Given the description of an element on the screen output the (x, y) to click on. 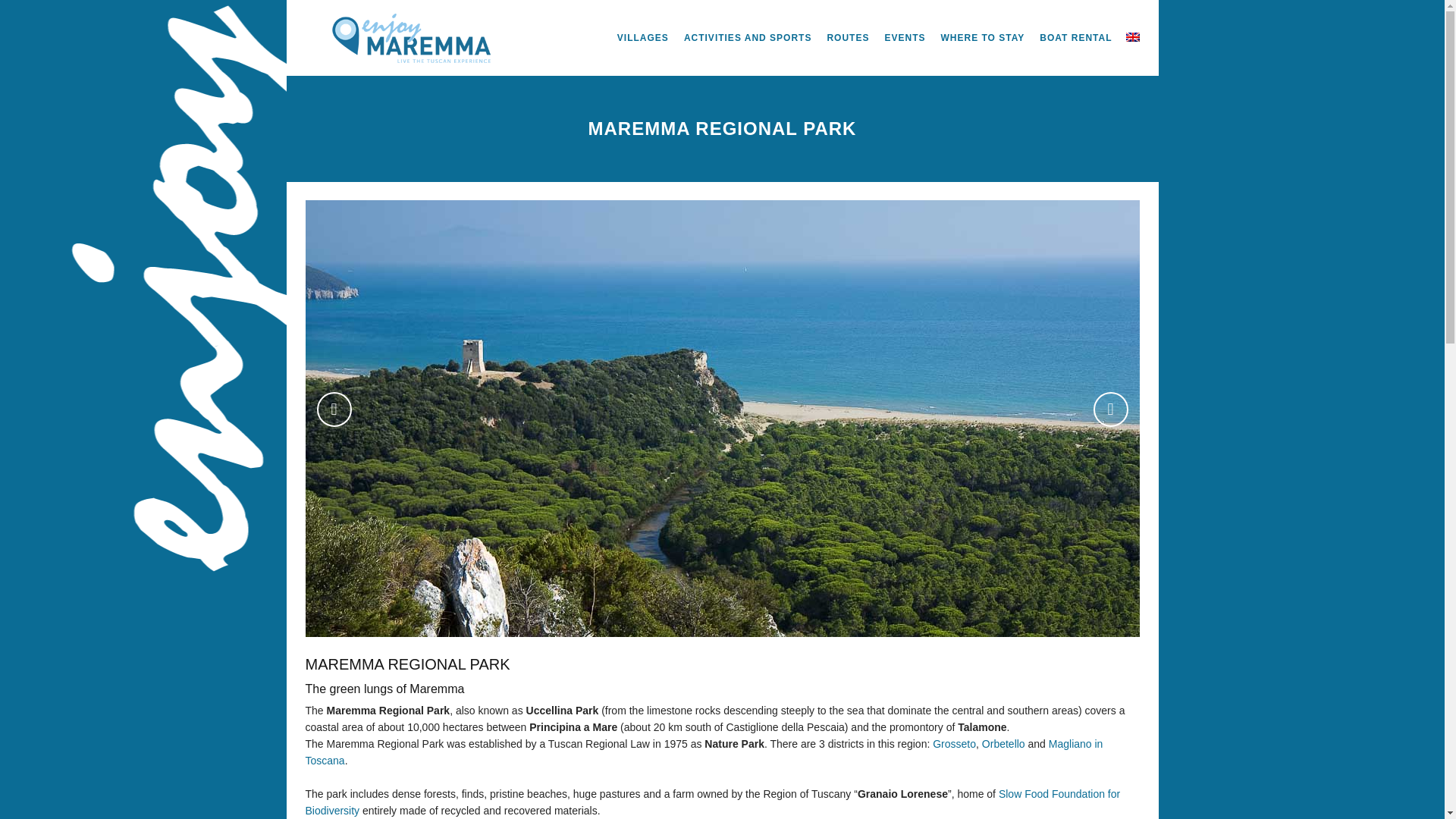
ACTIVITIES AND SPORTS (748, 38)
Grosseto (954, 743)
BOAT RENTAL (1075, 38)
WHERE TO STAY (982, 38)
